Given the description of an element on the screen output the (x, y) to click on. 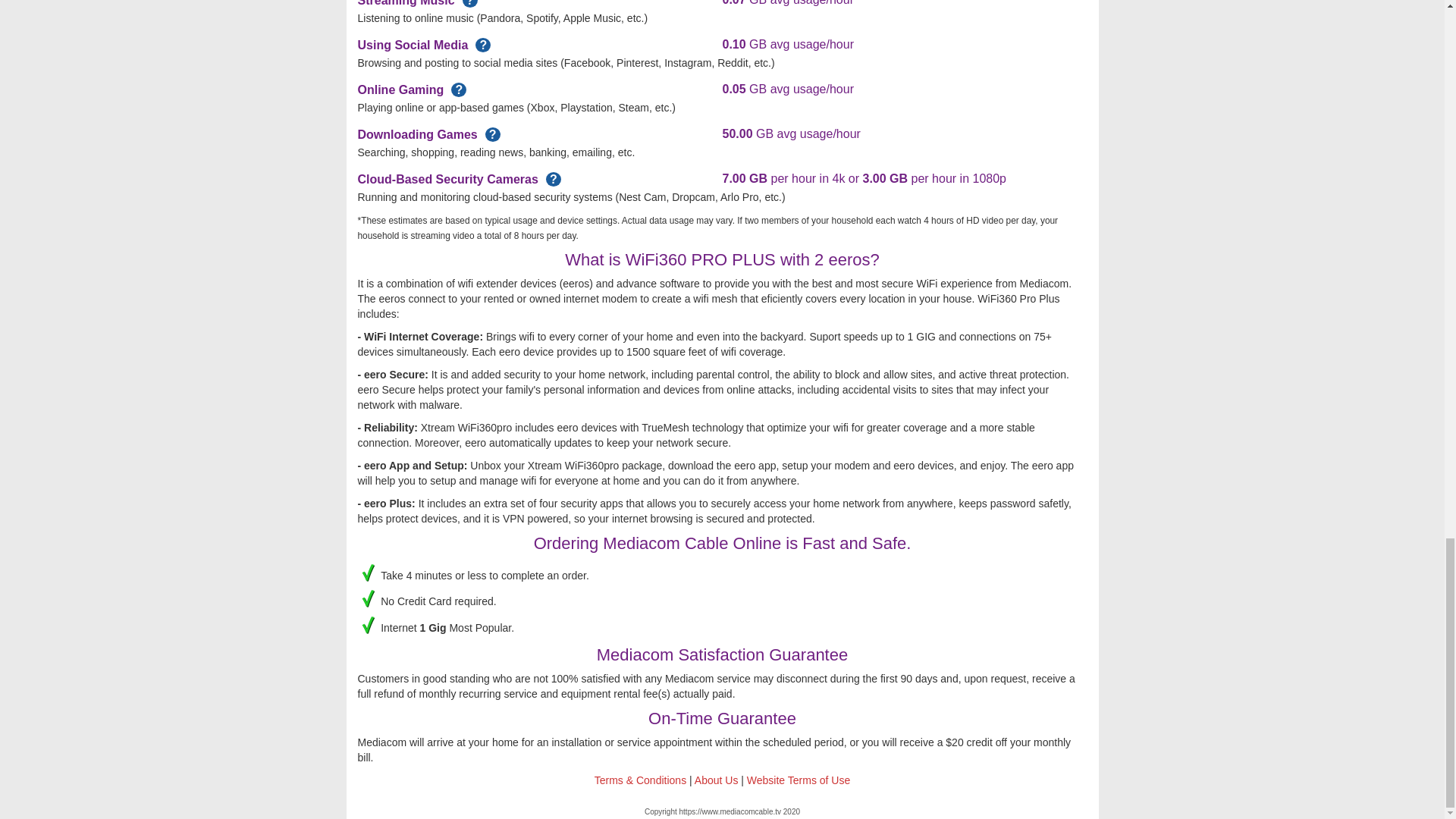
Website Terms of Use (798, 779)
About Us (716, 779)
